Given the description of an element on the screen output the (x, y) to click on. 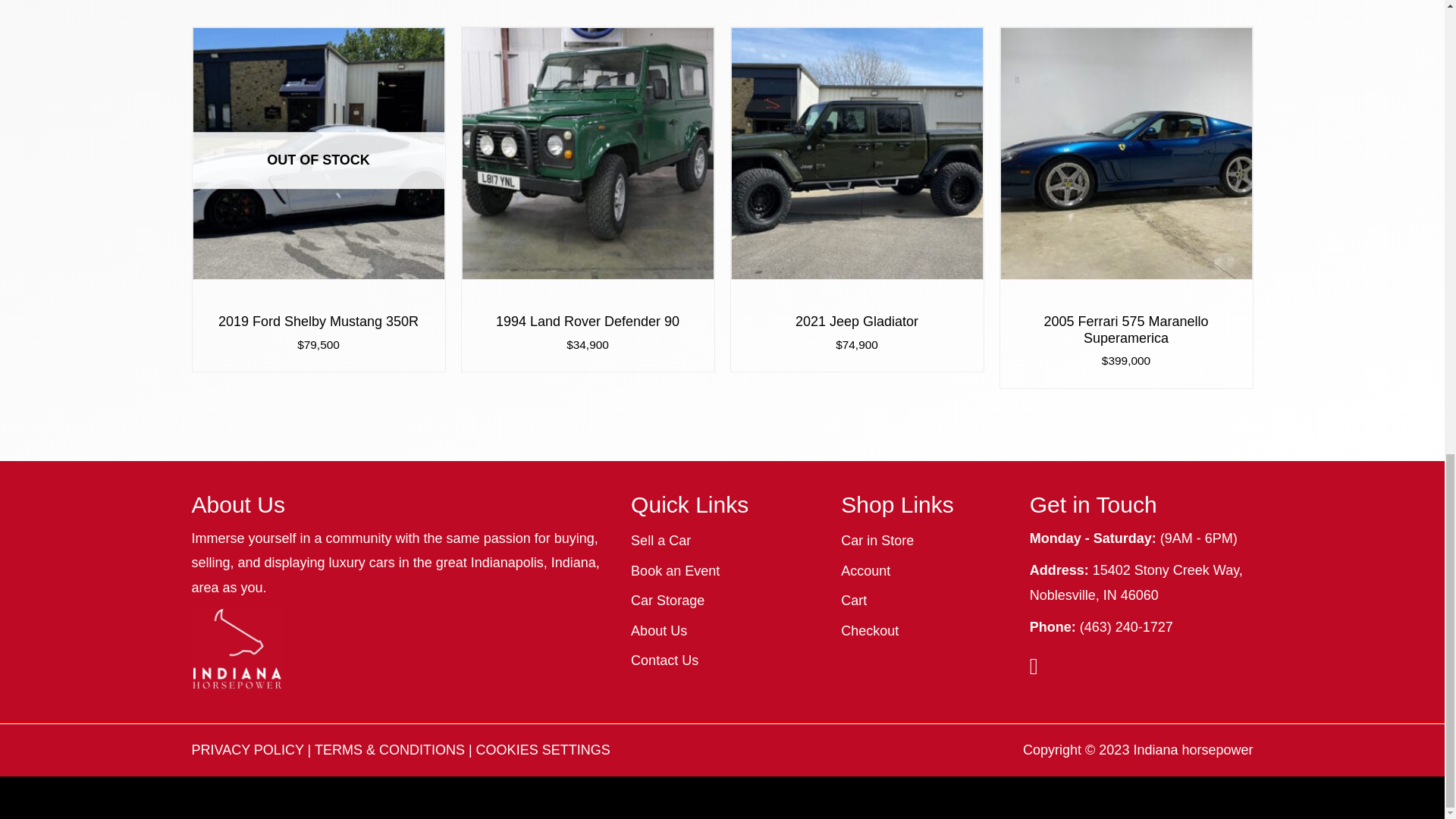
White-EAX-Branding-Footer (721, 797)
Indiana Horse Power Logo (236, 649)
